Given the description of an element on the screen output the (x, y) to click on. 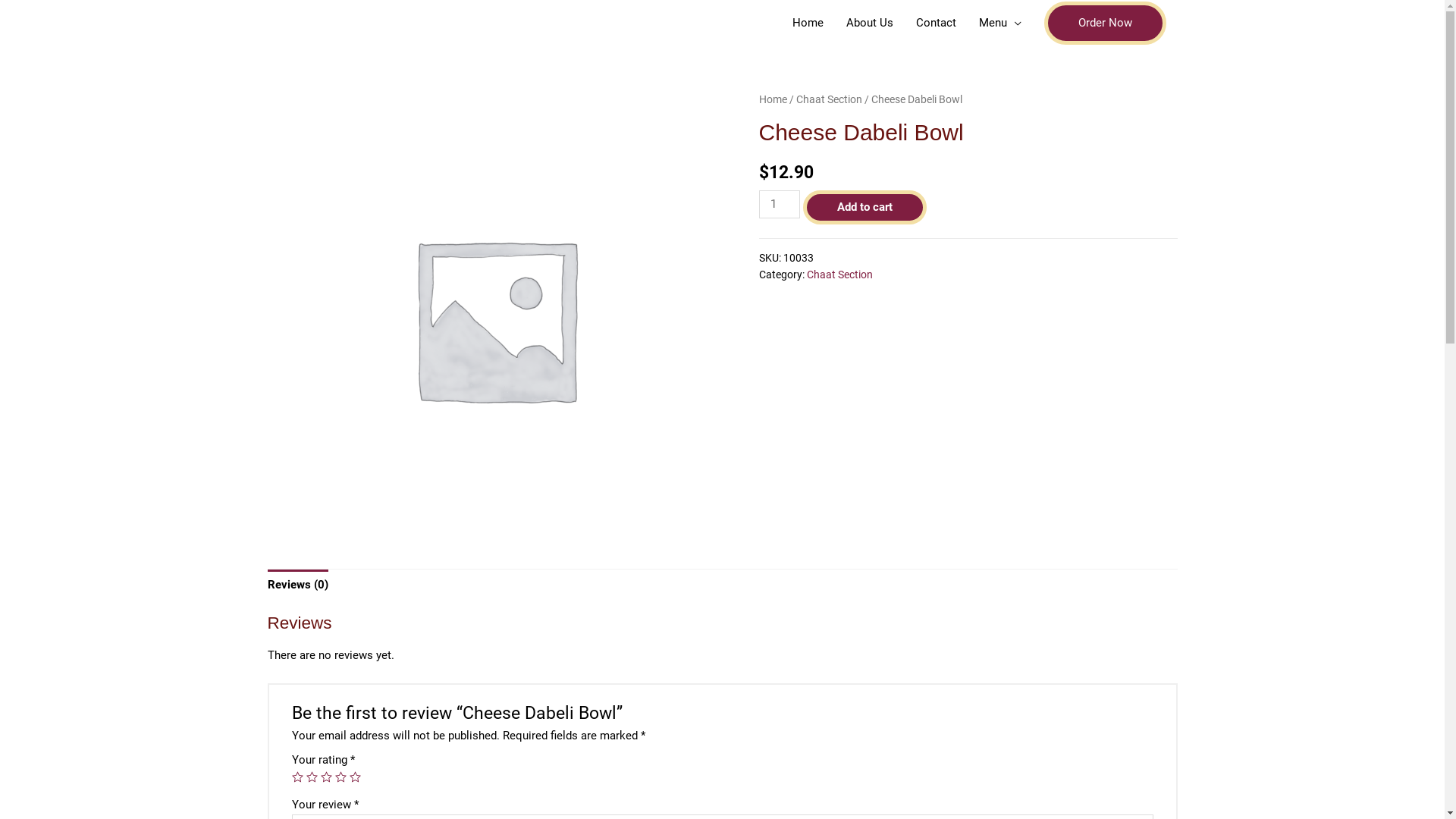
1 Element type: text (296, 776)
Qty Element type: hover (778, 204)
Home Element type: text (772, 99)
Home Element type: text (807, 22)
Menu Element type: text (999, 22)
5 Element type: text (354, 776)
3 Element type: text (325, 776)
Reviews (0) Element type: text (296, 584)
4 Element type: text (340, 776)
2 Element type: text (311, 776)
Contact Element type: text (934, 22)
Add to cart Element type: text (864, 207)
About Us Element type: text (868, 22)
Chaat Section Element type: text (829, 99)
Order Now Element type: text (1104, 22)
Chaat Section Element type: text (839, 274)
